Given the description of an element on the screen output the (x, y) to click on. 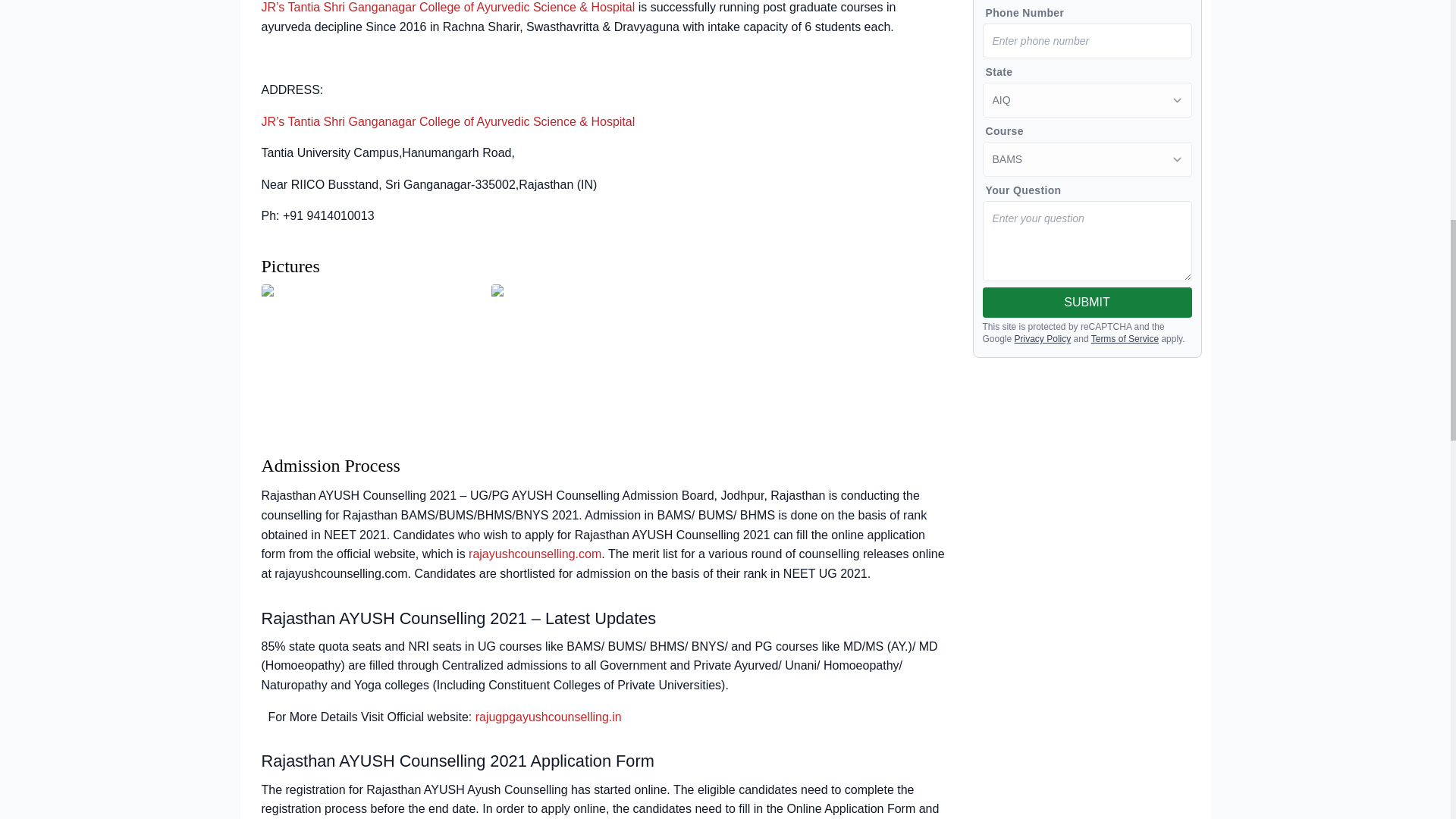
Privacy Policy (1042, 338)
rajugpgayushcounselling.in (548, 716)
rajayushcounselling.com (534, 553)
SUBMIT (1087, 302)
Terms of Service (1124, 338)
